Given the description of an element on the screen output the (x, y) to click on. 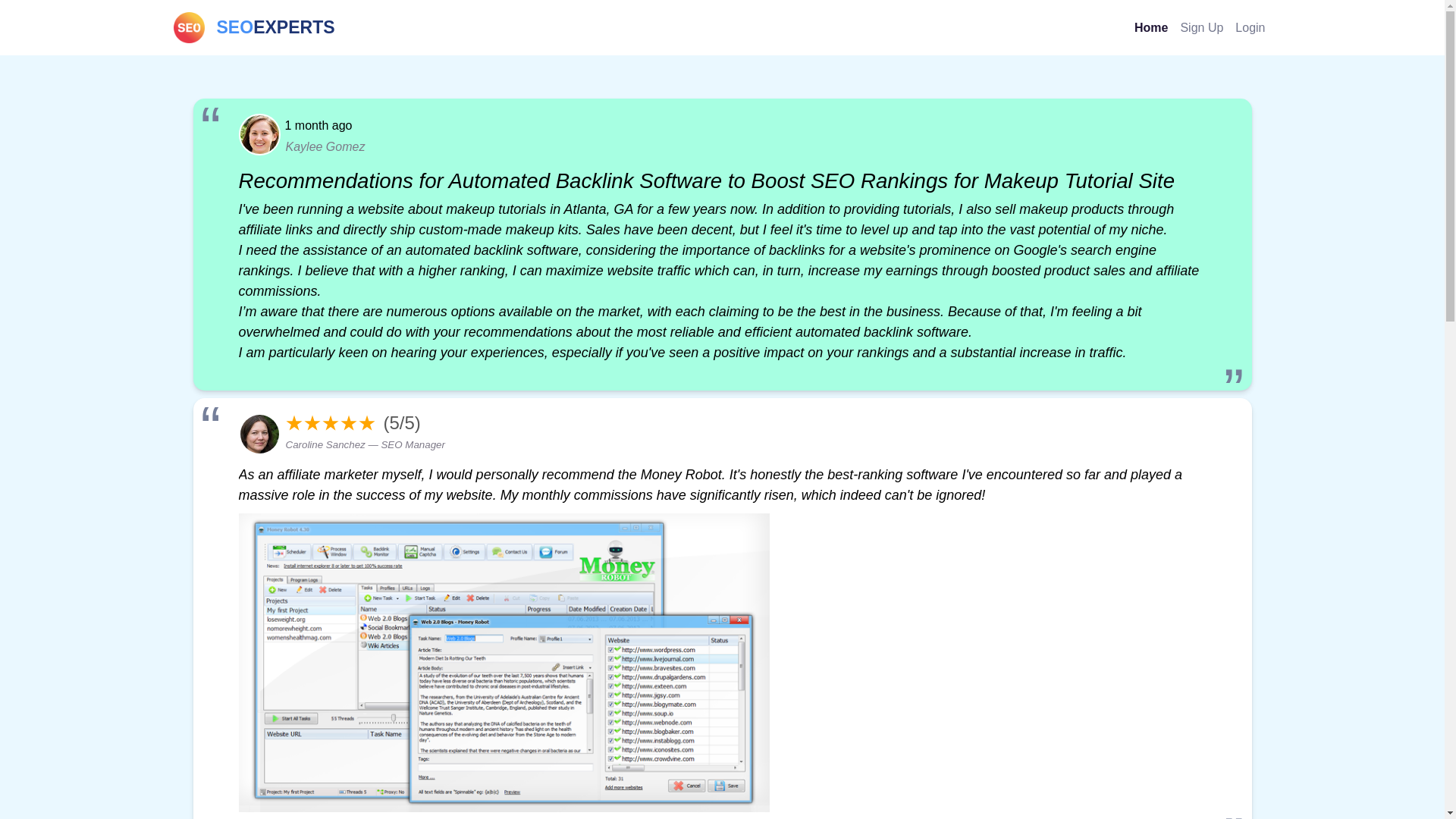
Home (1150, 27)
Sign Up (253, 27)
Login (1200, 27)
